Given the description of an element on the screen output the (x, y) to click on. 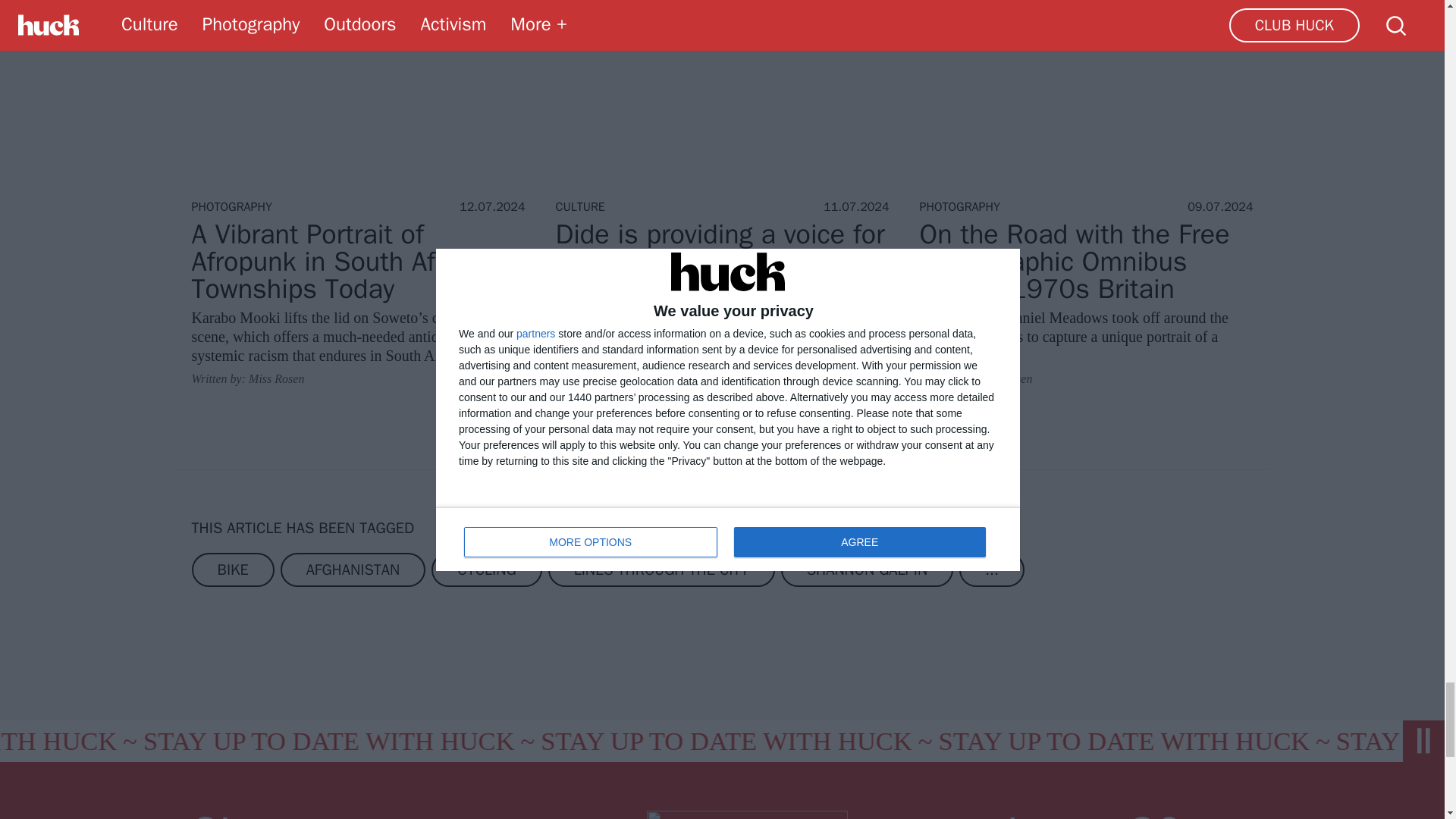
LINES THROUGH THE CITY (661, 569)
... (992, 569)
CYCLING (485, 569)
BIKE (231, 569)
AFGHANISTAN (353, 569)
SHANNON GALPIN (866, 569)
